Given the description of an element on the screen output the (x, y) to click on. 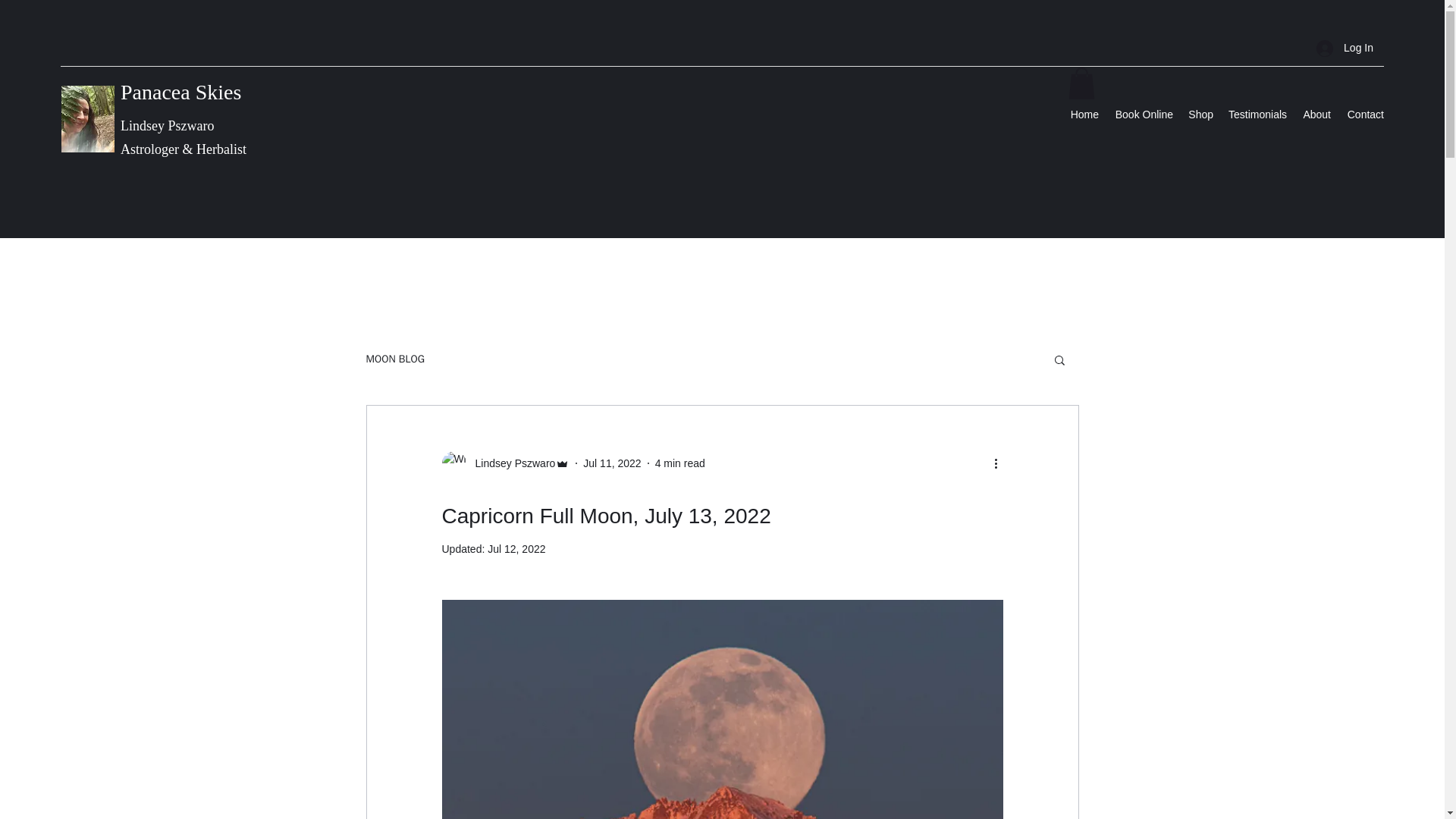
Contact (1364, 114)
Jul 11, 2022 (611, 462)
Jul 12, 2022 (515, 548)
Book Online (1143, 114)
MOON BLOG (394, 359)
4 min read (679, 462)
Home (1084, 114)
Lindsey Pszwaro (505, 463)
Shop (1200, 114)
Lindsey Pszwaro (509, 462)
